Given the description of an element on the screen output the (x, y) to click on. 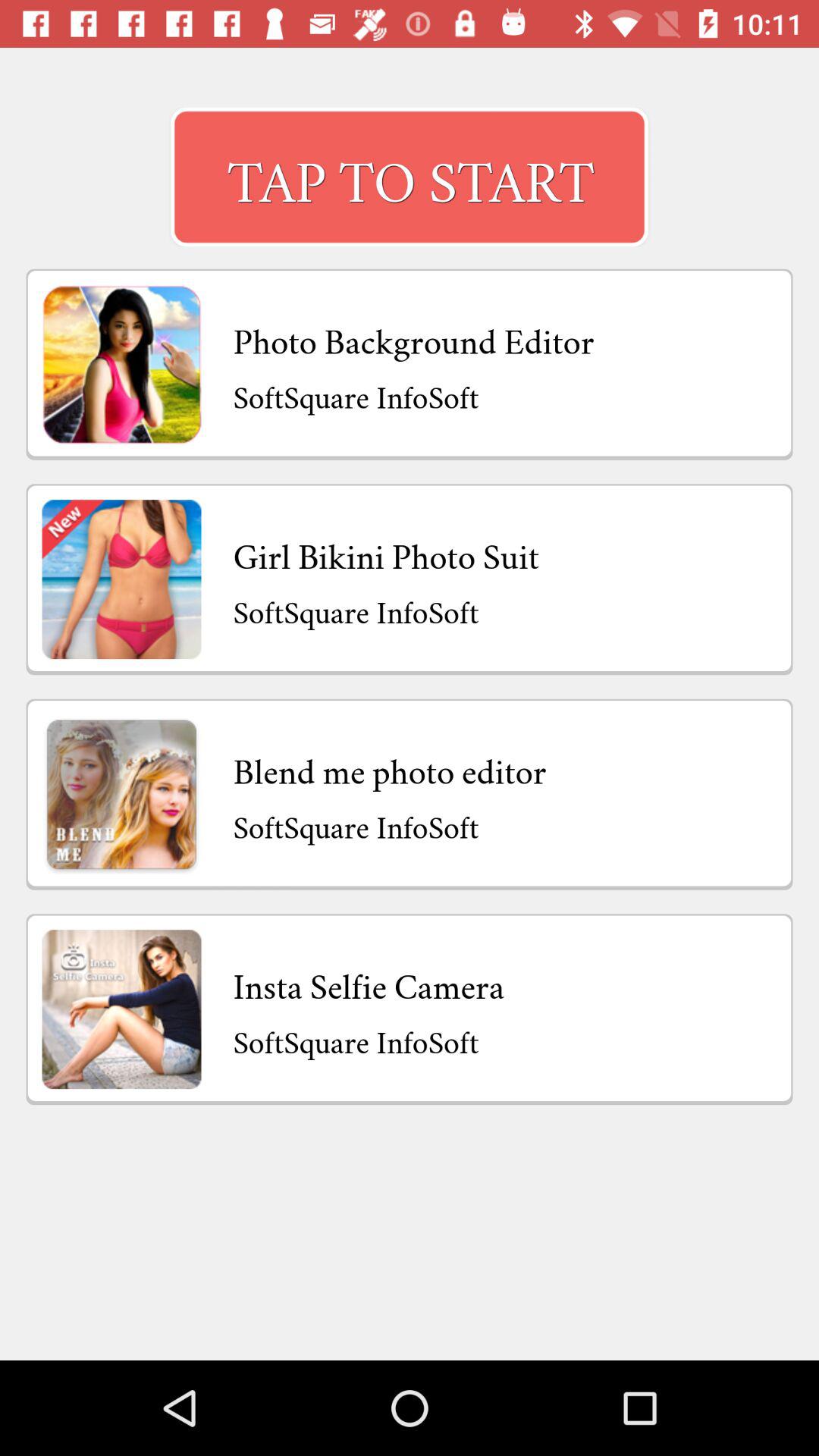
turn on tap to start icon (409, 176)
